Given the description of an element on the screen output the (x, y) to click on. 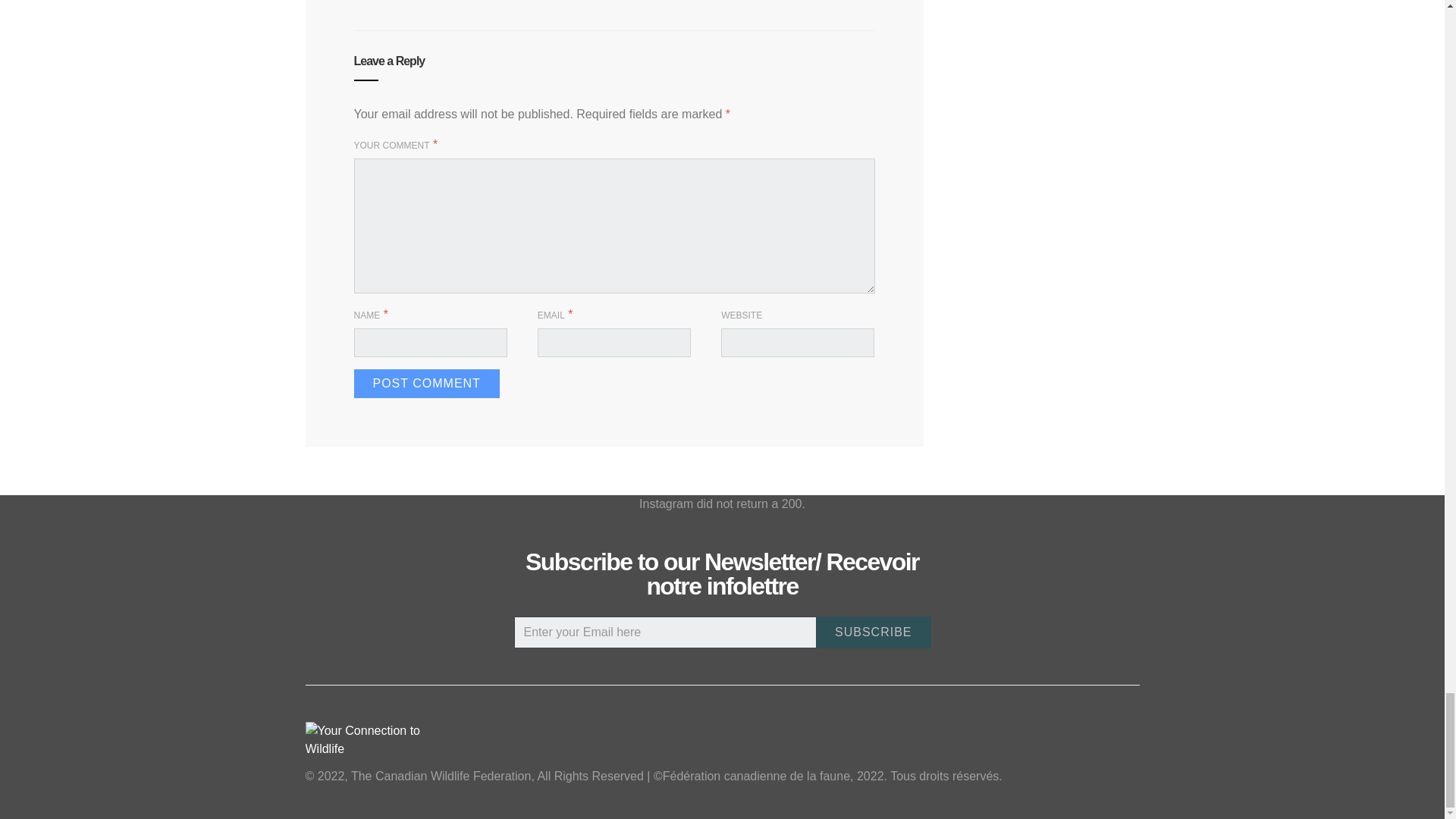
Post Comment (426, 383)
